Given the description of an element on the screen output the (x, y) to click on. 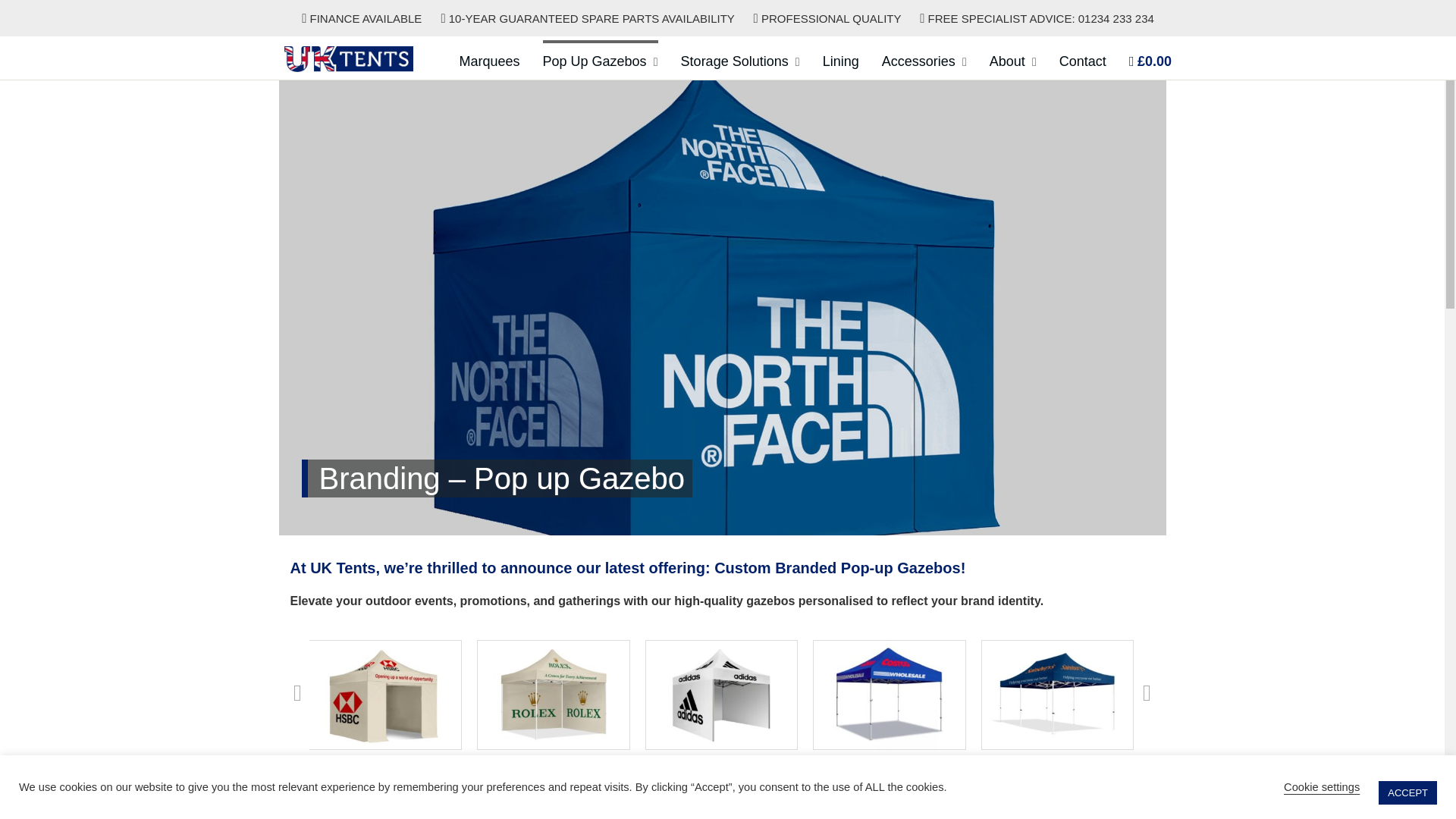
Pop Up Gazebos (594, 65)
Contact (1082, 65)
About (1007, 65)
Marquees (488, 65)
Lining (840, 65)
Accessories (918, 65)
01234 233 234 (1116, 18)
Storage Solutions (735, 65)
